Given the description of an element on the screen output the (x, y) to click on. 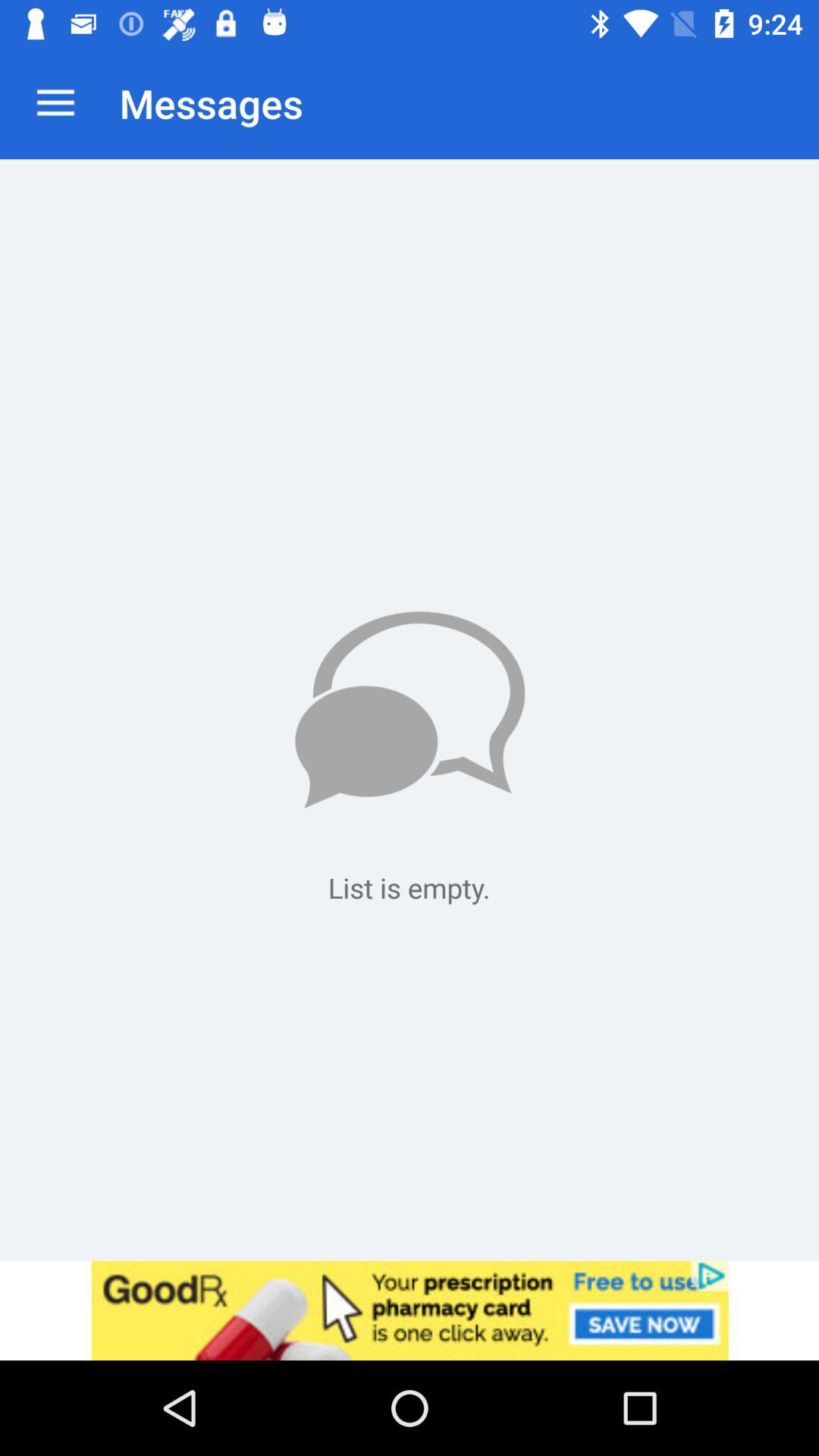
list of messages (409, 709)
